Given the description of an element on the screen output the (x, y) to click on. 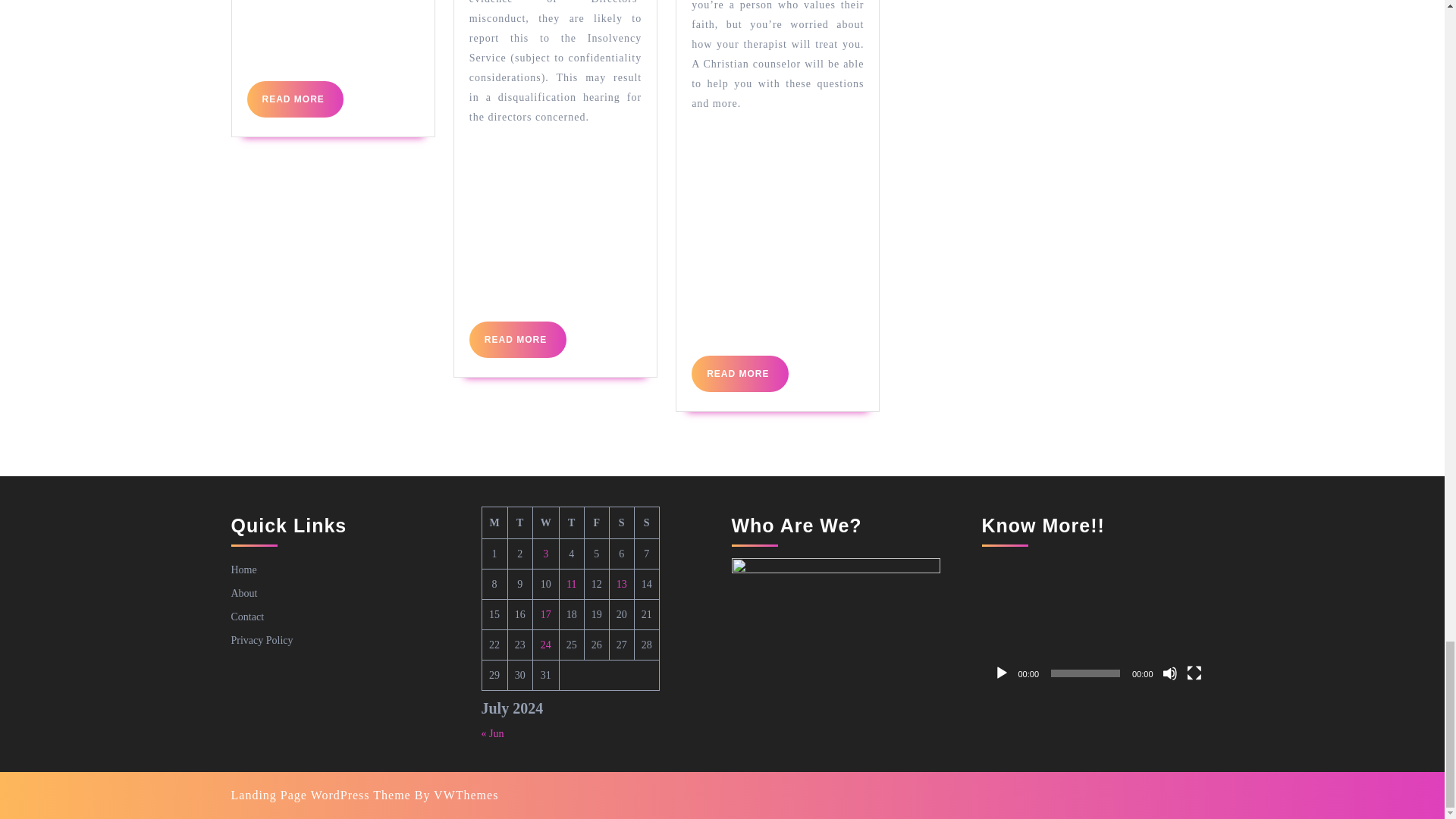
Play (517, 339)
